Given the description of an element on the screen output the (x, y) to click on. 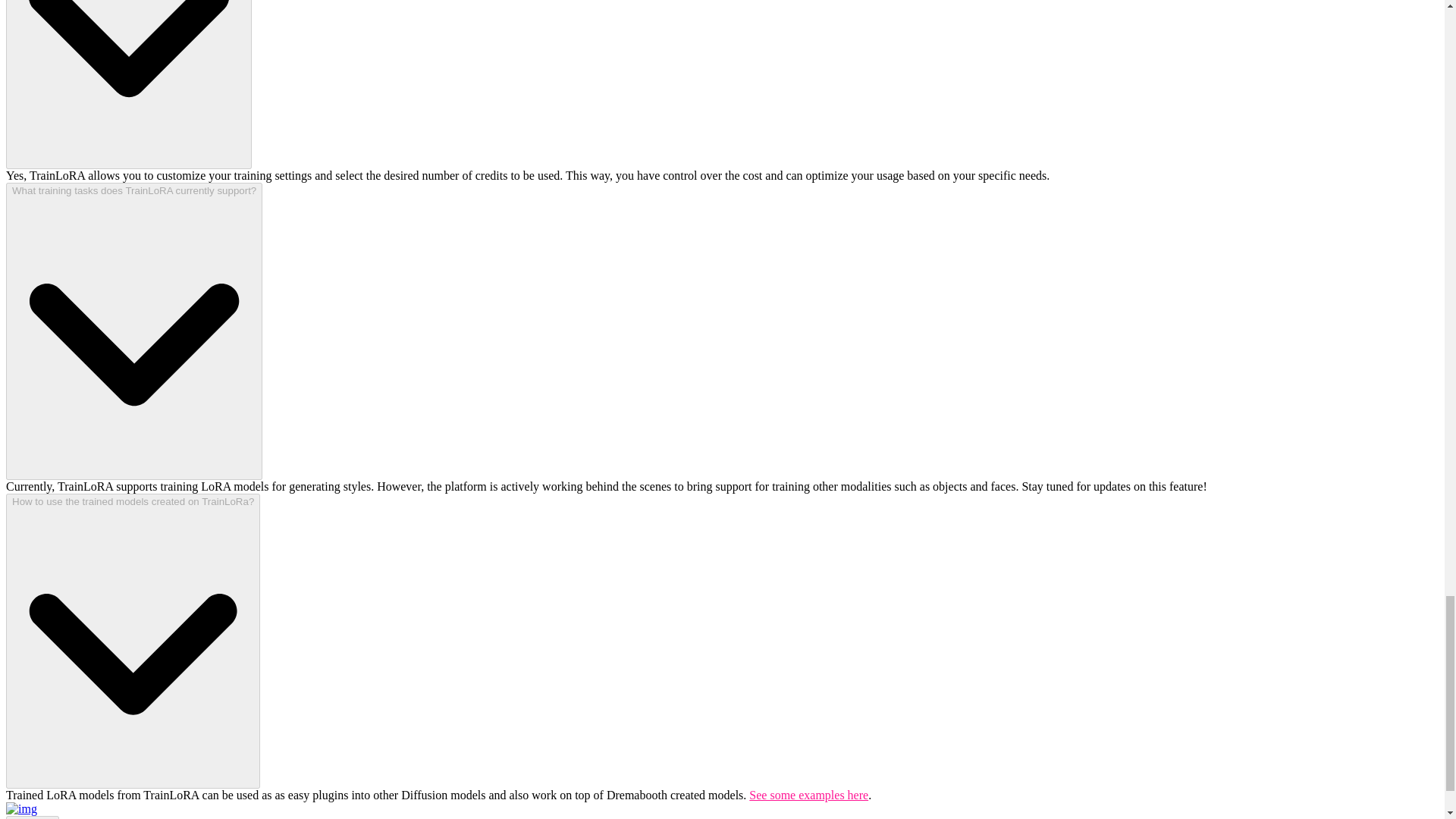
See some examples here (808, 794)
FAQ (32, 817)
Can I adjust the quantity of credits used for training? (128, 84)
